Given the description of an element on the screen output the (x, y) to click on. 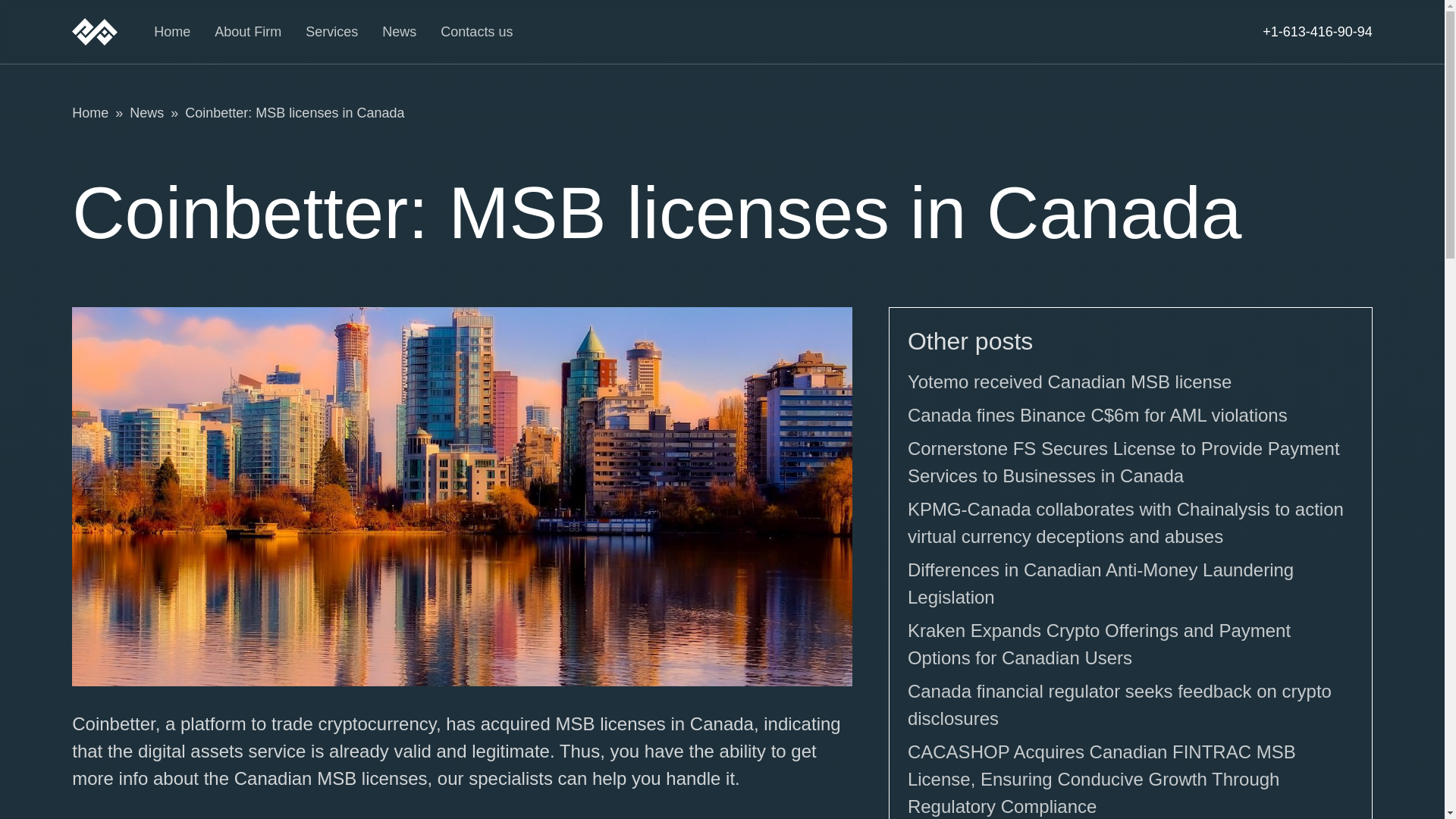
Home (172, 31)
Services (331, 31)
News (146, 112)
Differences in Canadian Anti-Money Laundering Legislation (1100, 583)
News (398, 31)
Contacts us (476, 31)
Yotemo received Canadian MSB license (1069, 381)
Home (89, 112)
About Firm (247, 31)
